Given the description of an element on the screen output the (x, y) to click on. 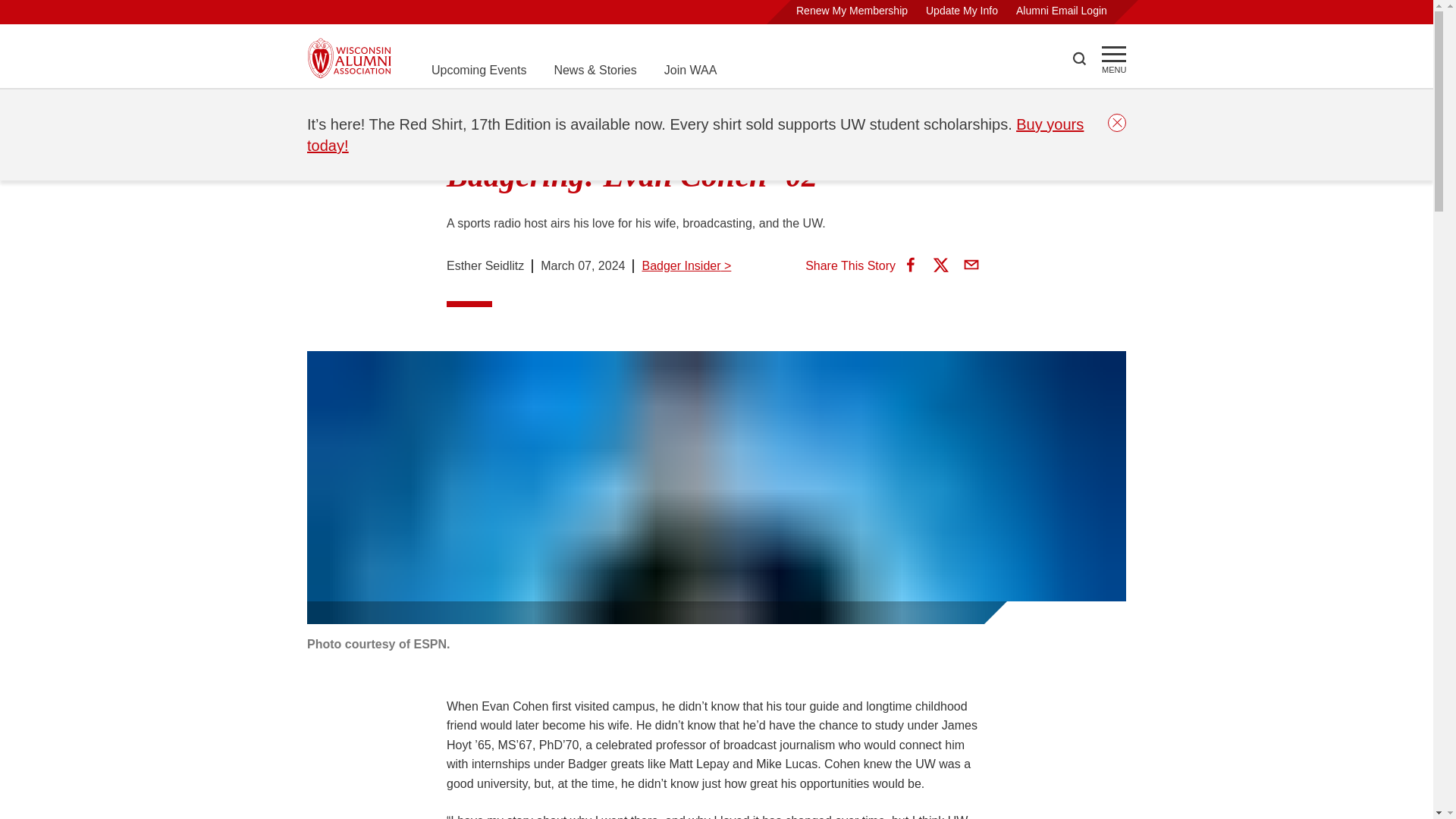
Update My Info (961, 10)
Alumni Email Login (1061, 10)
Upcoming Events (477, 70)
Badger Insider (468, 107)
Home (322, 107)
Renew My Membership (851, 10)
Join WAA (690, 70)
